Given the description of an element on the screen output the (x, y) to click on. 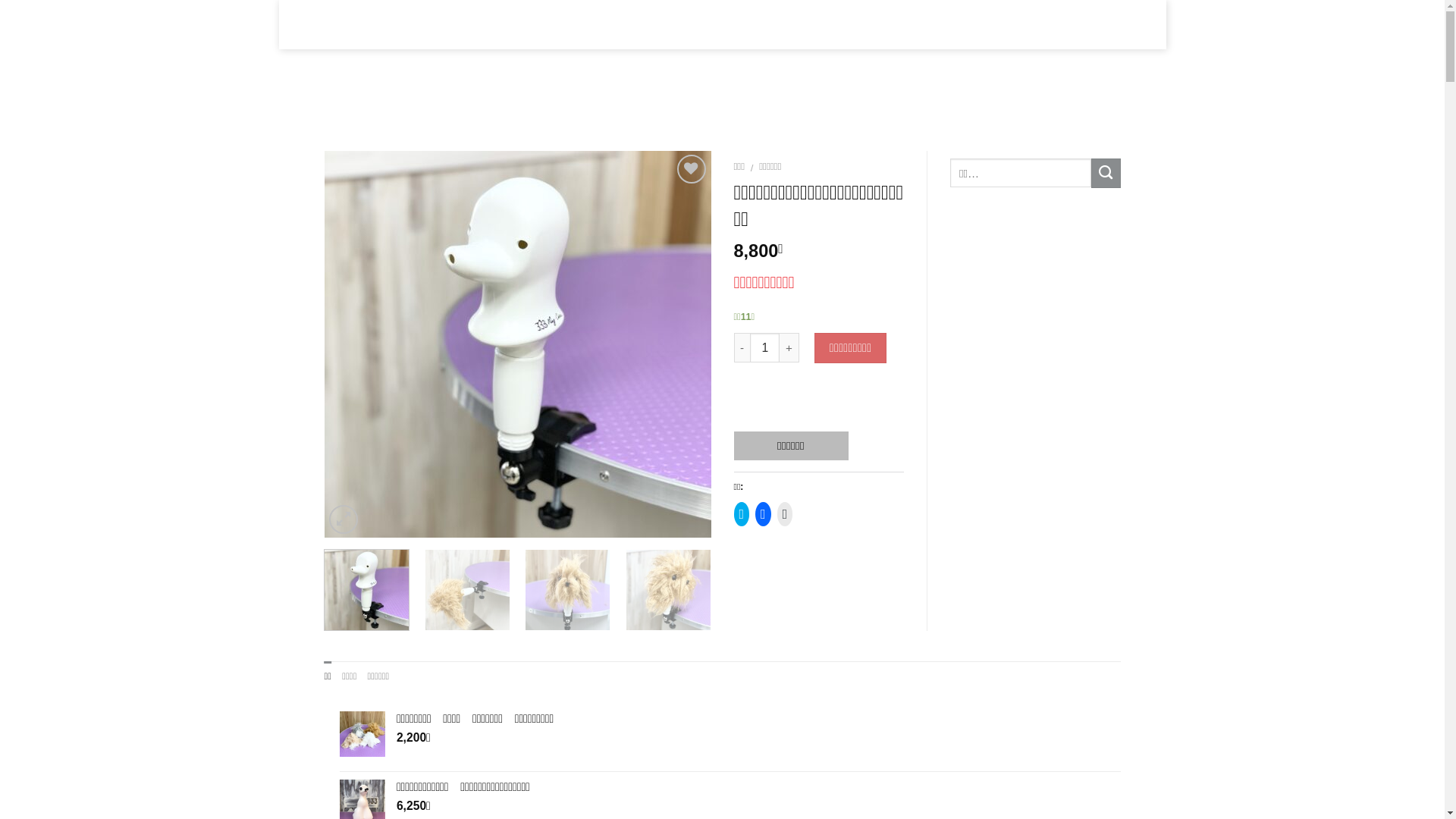
img_1621.jpg Element type: hover (517, 343)
Qty Element type: hover (764, 347)
